Given the description of an element on the screen output the (x, y) to click on. 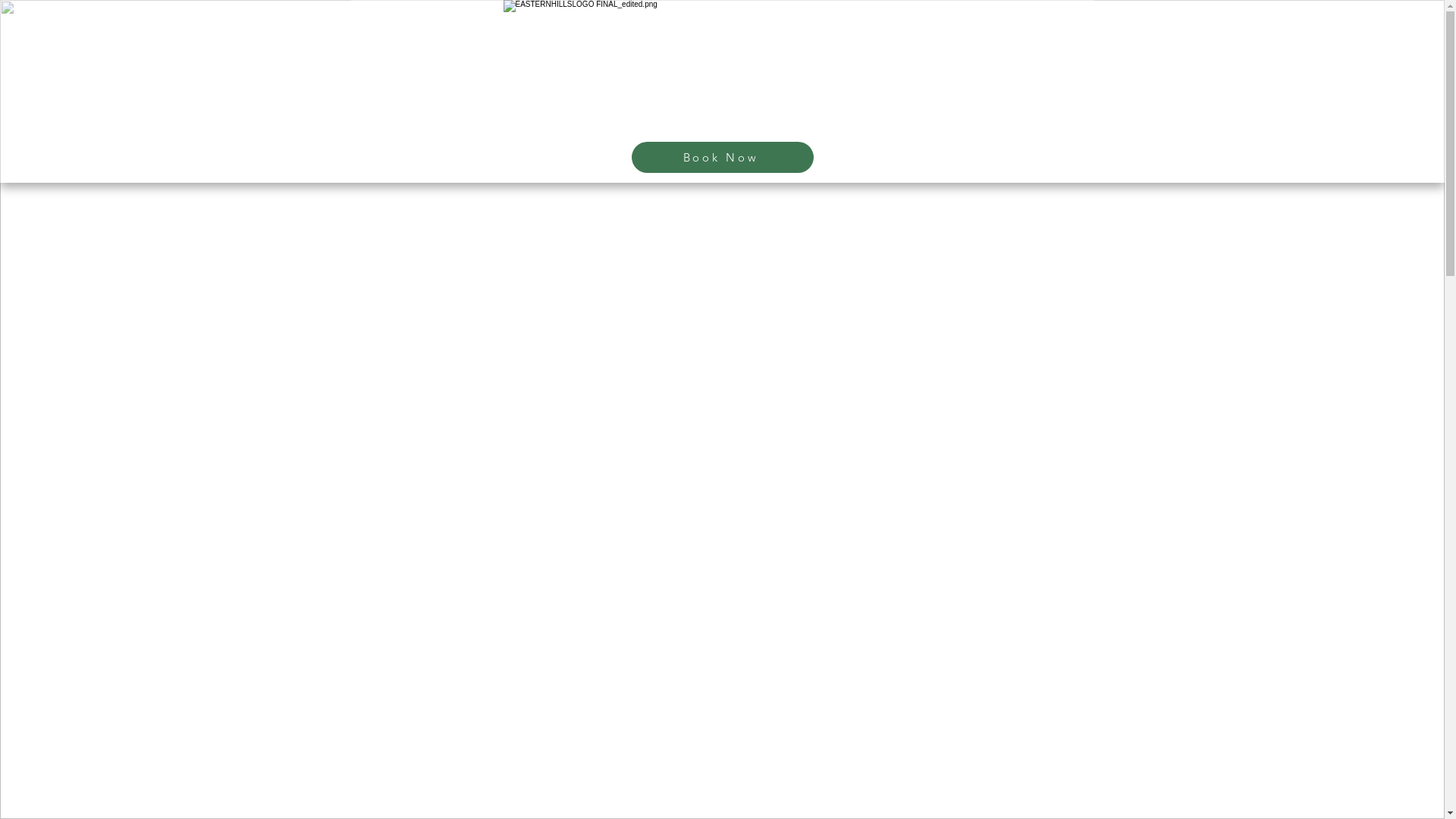
Book Now Element type: text (721, 156)
